Given the description of an element on the screen output the (x, y) to click on. 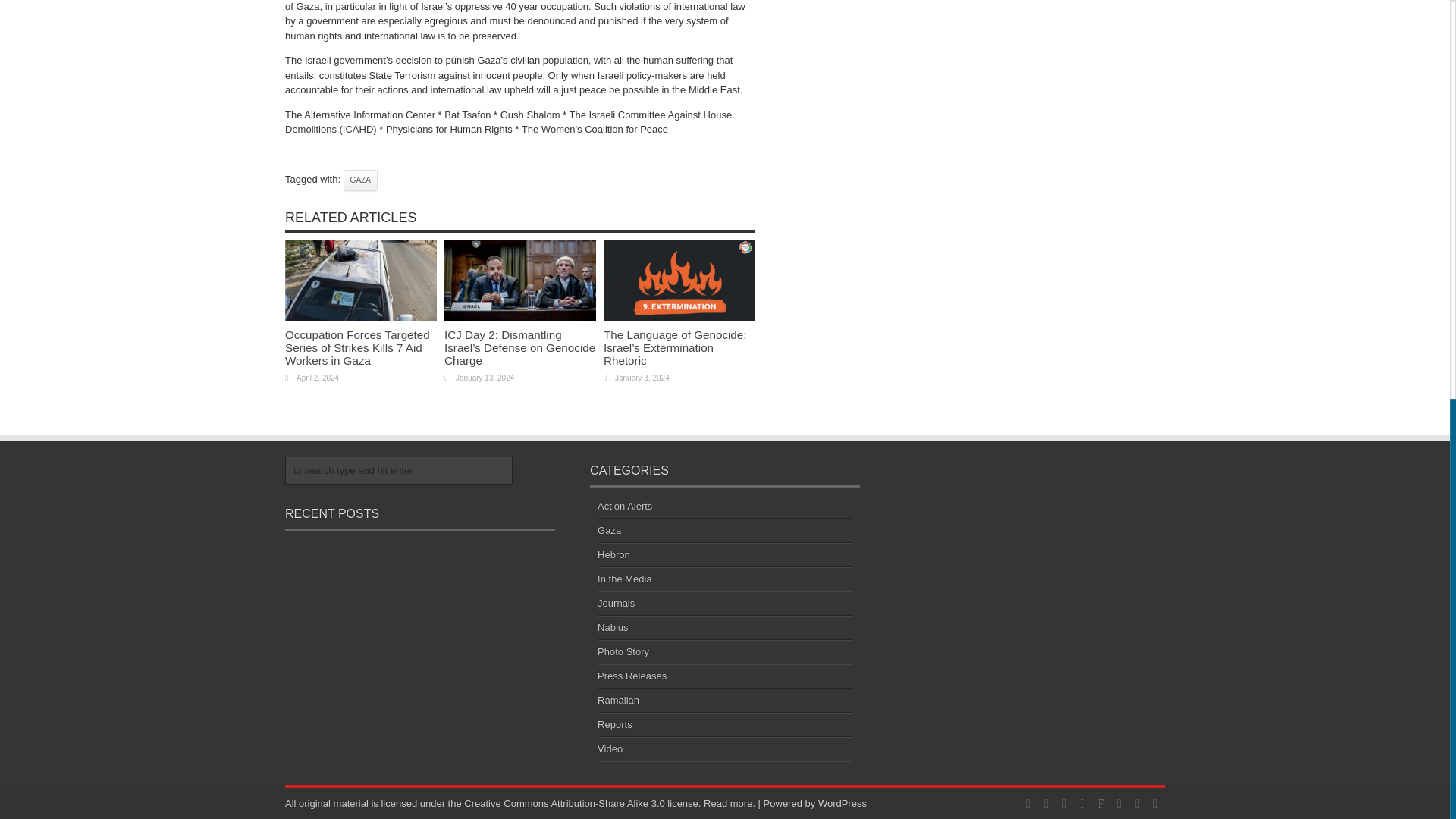
Scroll To Top (1427, 100)
to search type and hit enter (398, 469)
GAZA (360, 179)
